Given the description of an element on the screen output the (x, y) to click on. 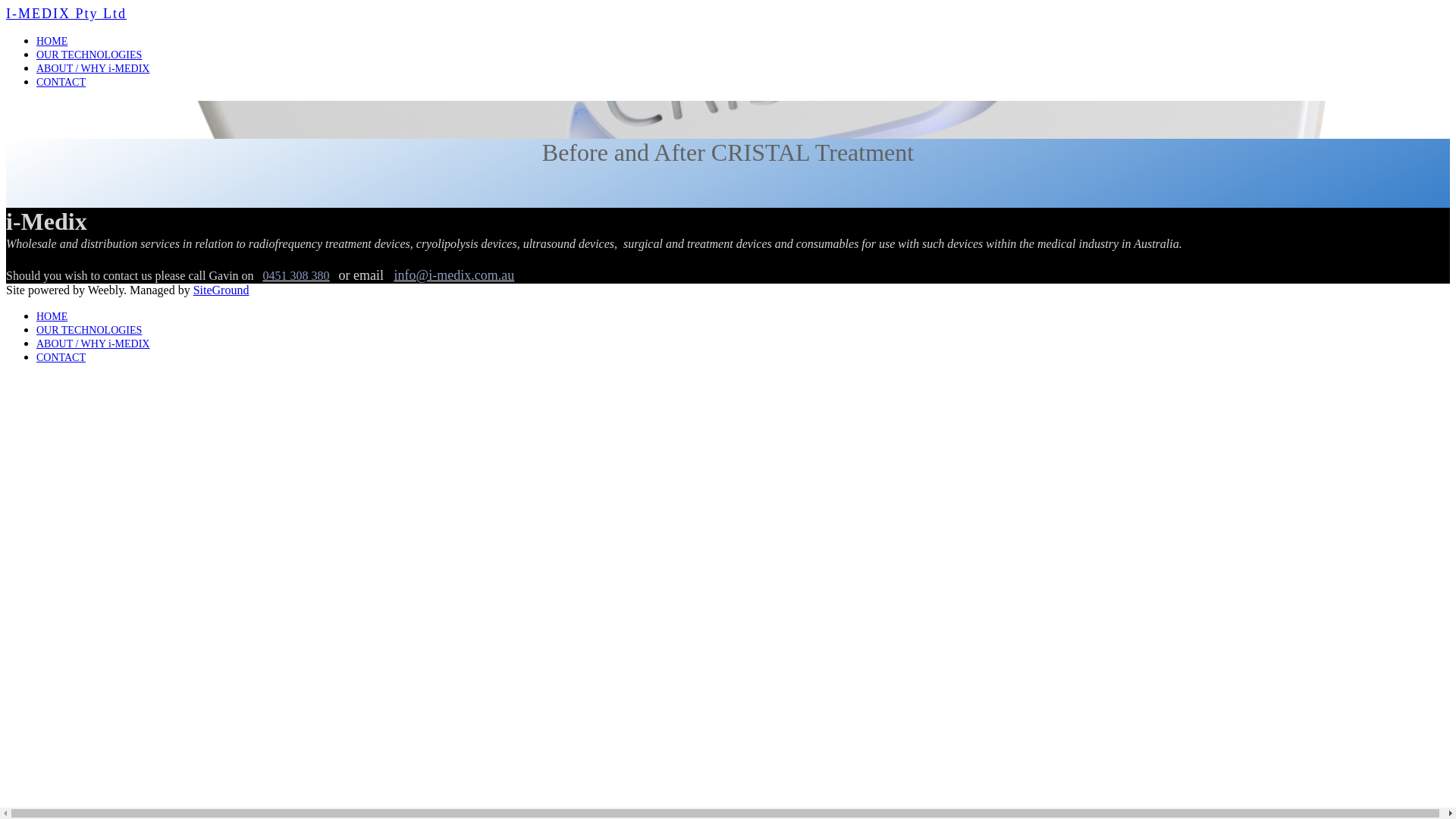
SiteGround Element type: text (221, 289)
info@i-medix.com.au Element type: text (454, 274)
OUR TECHNOLOGIES Element type: text (88, 329)
CONTACT Element type: text (60, 357)
HOME Element type: text (51, 41)
ABOUT / WHY i-MEDIX Element type: text (92, 68)
0451 308 380 Element type: text (296, 275)
HOME Element type: text (51, 316)
OUR TECHNOLOGIES Element type: text (88, 54)
ABOUT / WHY i-MEDIX Element type: text (92, 343)
CONTACT Element type: text (60, 81)
I-MEDIX Pty Ltd Element type: text (66, 13)
